Given the description of an element on the screen output the (x, y) to click on. 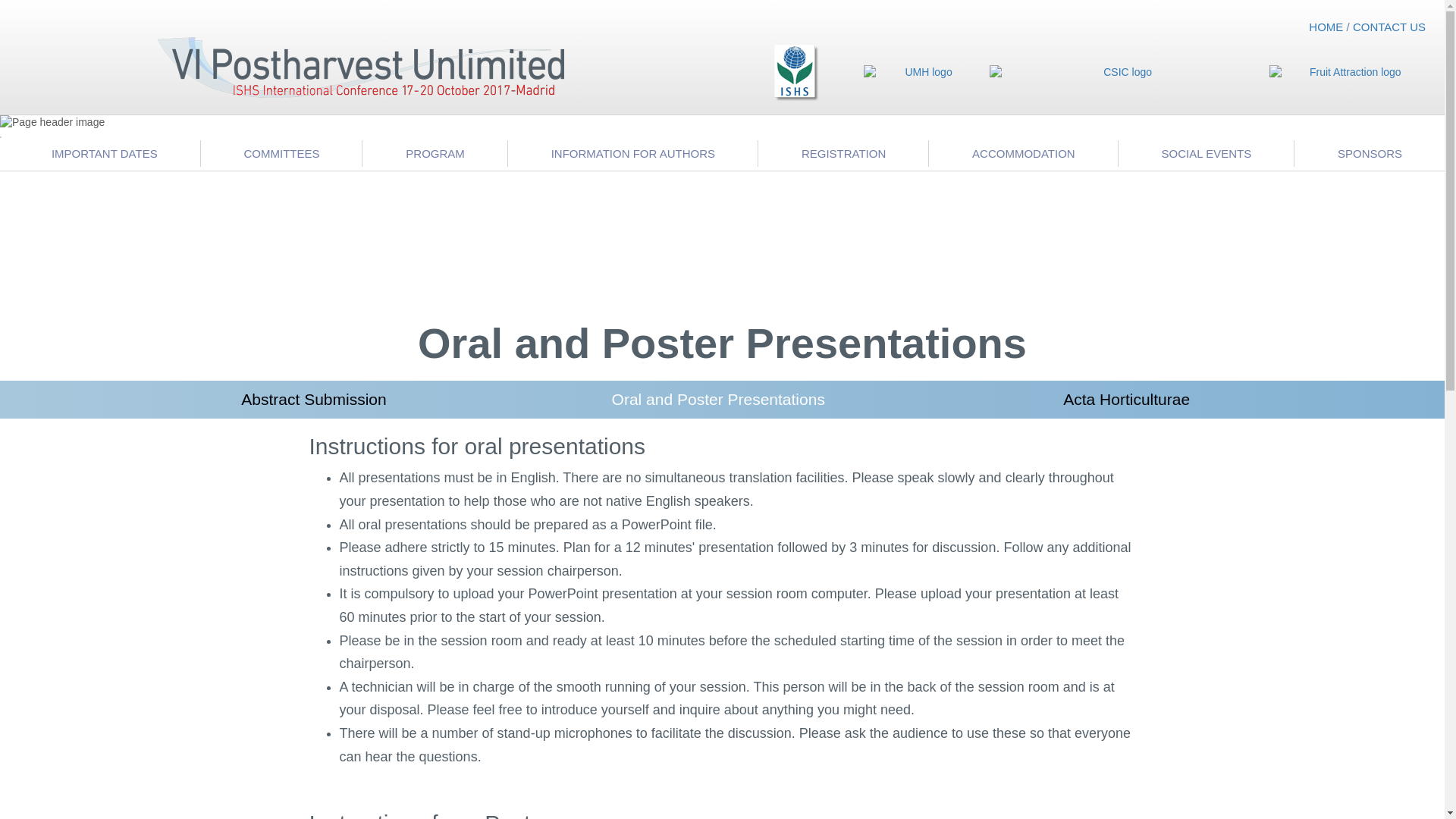
IMPORTANT DATES (100, 153)
REGISTRATION (843, 153)
SOCIAL EVENTS (1206, 153)
PROGRAM (434, 153)
INFORMATION FOR AUTHORS (633, 153)
ACCOMMODATION (1023, 153)
Oral and Poster Presentations (718, 399)
Abstract Submission (313, 399)
COMMITTEES (281, 153)
Acta Horticulturae (1126, 399)
